Given the description of an element on the screen output the (x, y) to click on. 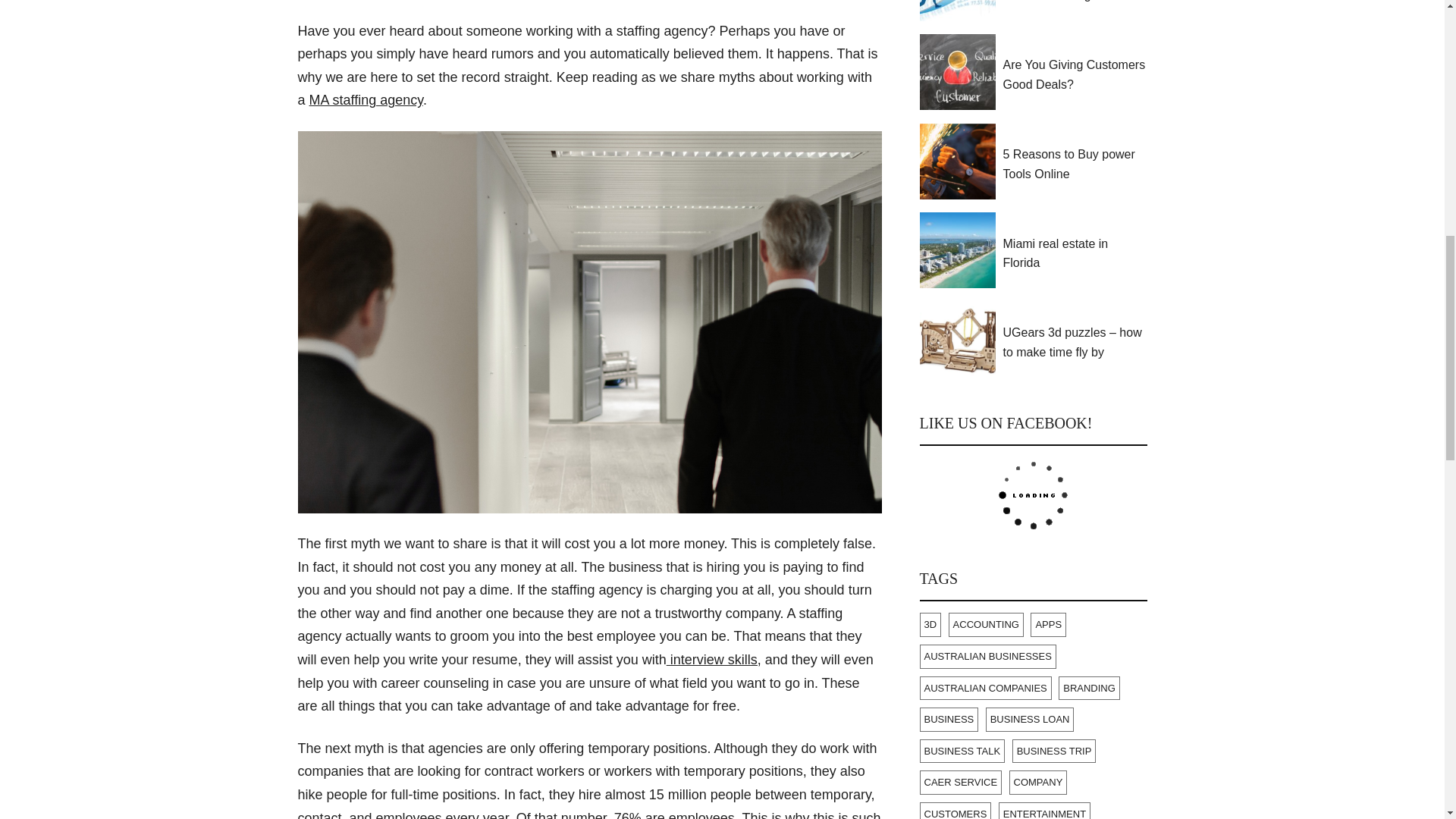
MA staffing agency (365, 99)
APPS (1047, 624)
3D (929, 624)
interview skills, (713, 659)
BRANDING (1088, 688)
BUSINESS TALK (961, 751)
ACCOUNTING (986, 624)
BUSINESS (948, 719)
BUSINESS LOAN (1029, 719)
5 Reasons to Buy power Tools Online (1075, 163)
